Given the description of an element on the screen output the (x, y) to click on. 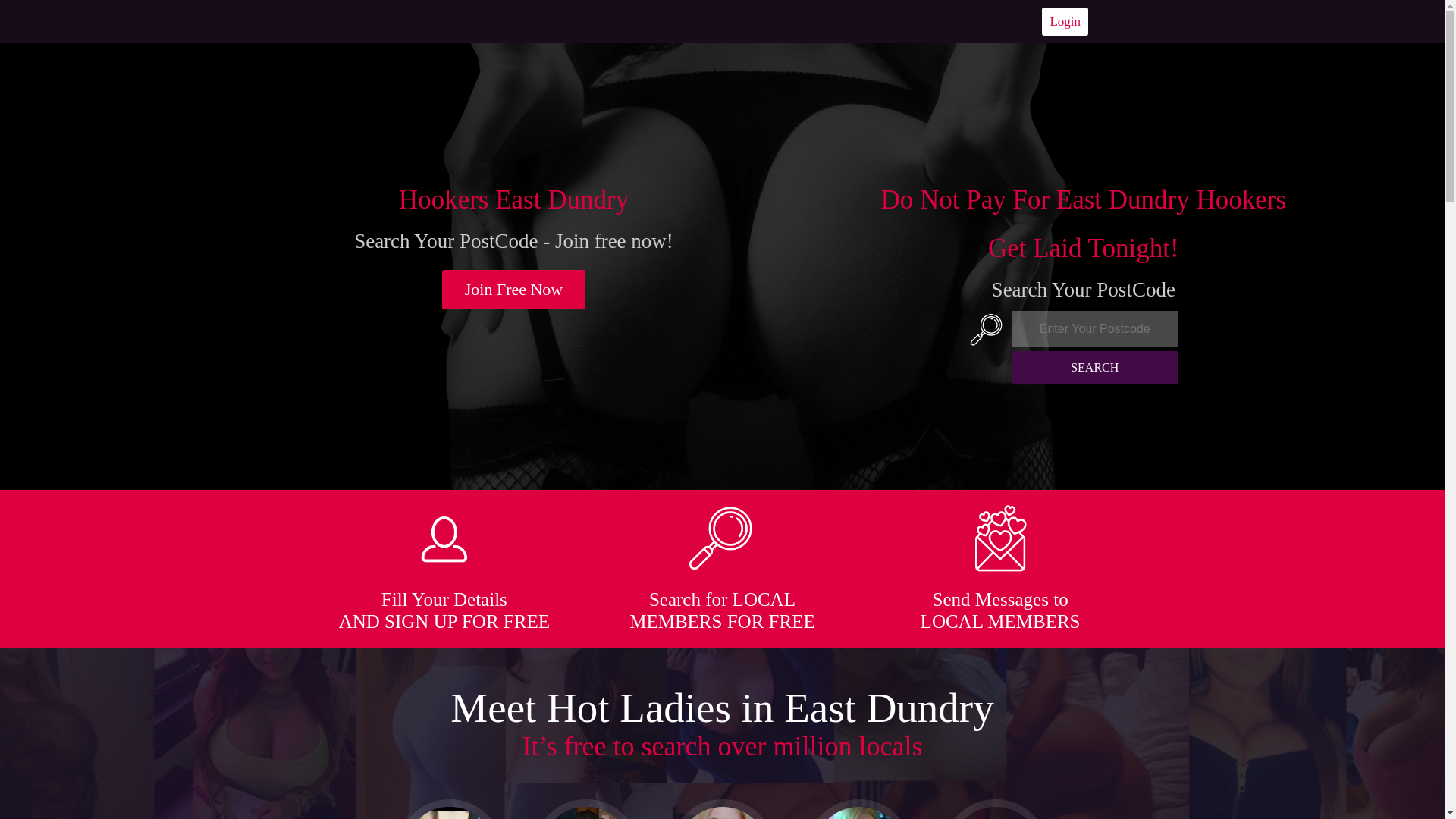
Join (514, 289)
Join Free Now (514, 289)
SEARCH (1094, 367)
Login (1064, 21)
Login (1064, 21)
